Given the description of an element on the screen output the (x, y) to click on. 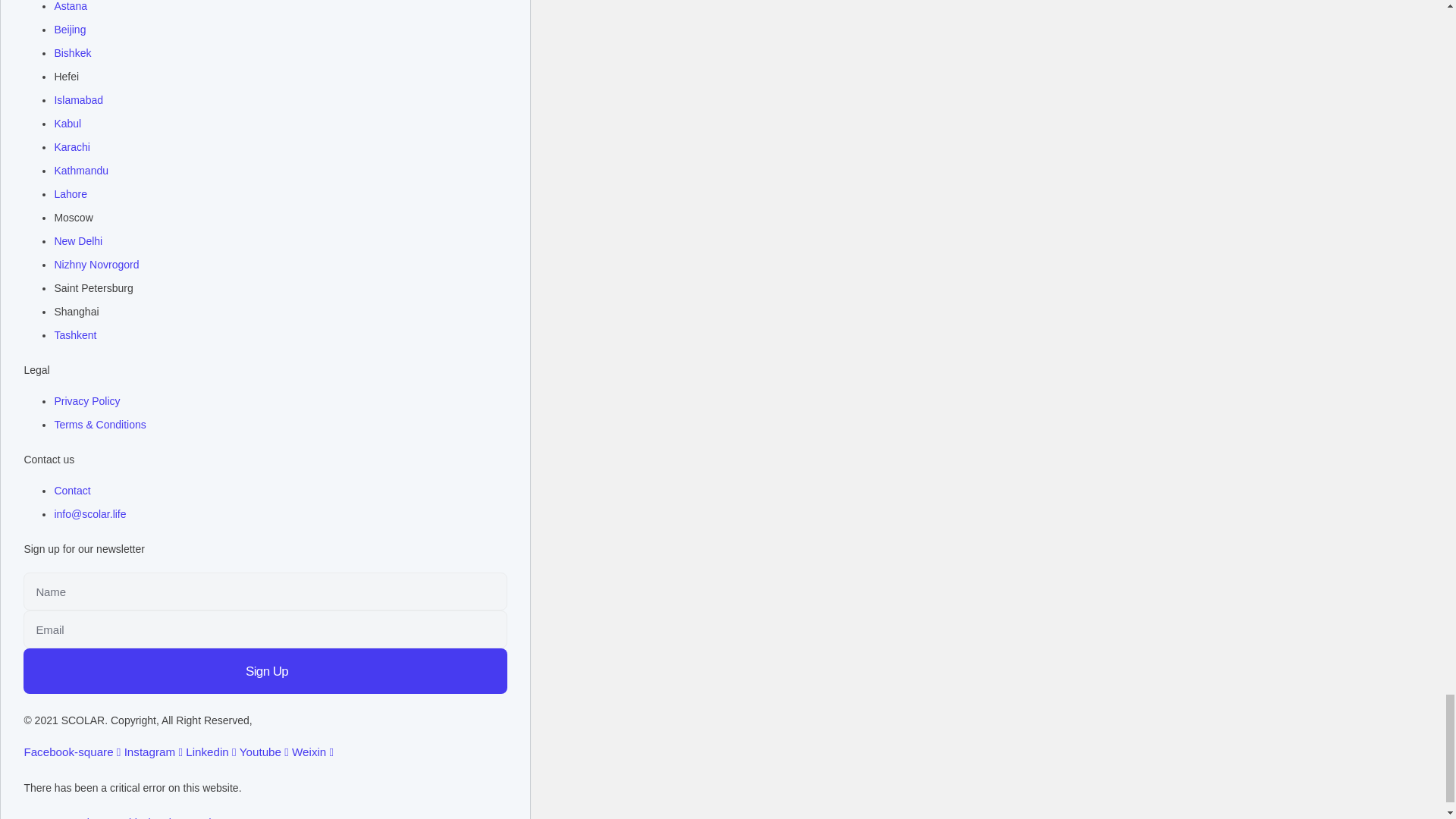
Kabul (67, 123)
Bishkek (71, 53)
Astana (70, 7)
Beijing (69, 29)
Karachi (70, 147)
Islamabad (78, 100)
